Given the description of an element on the screen output the (x, y) to click on. 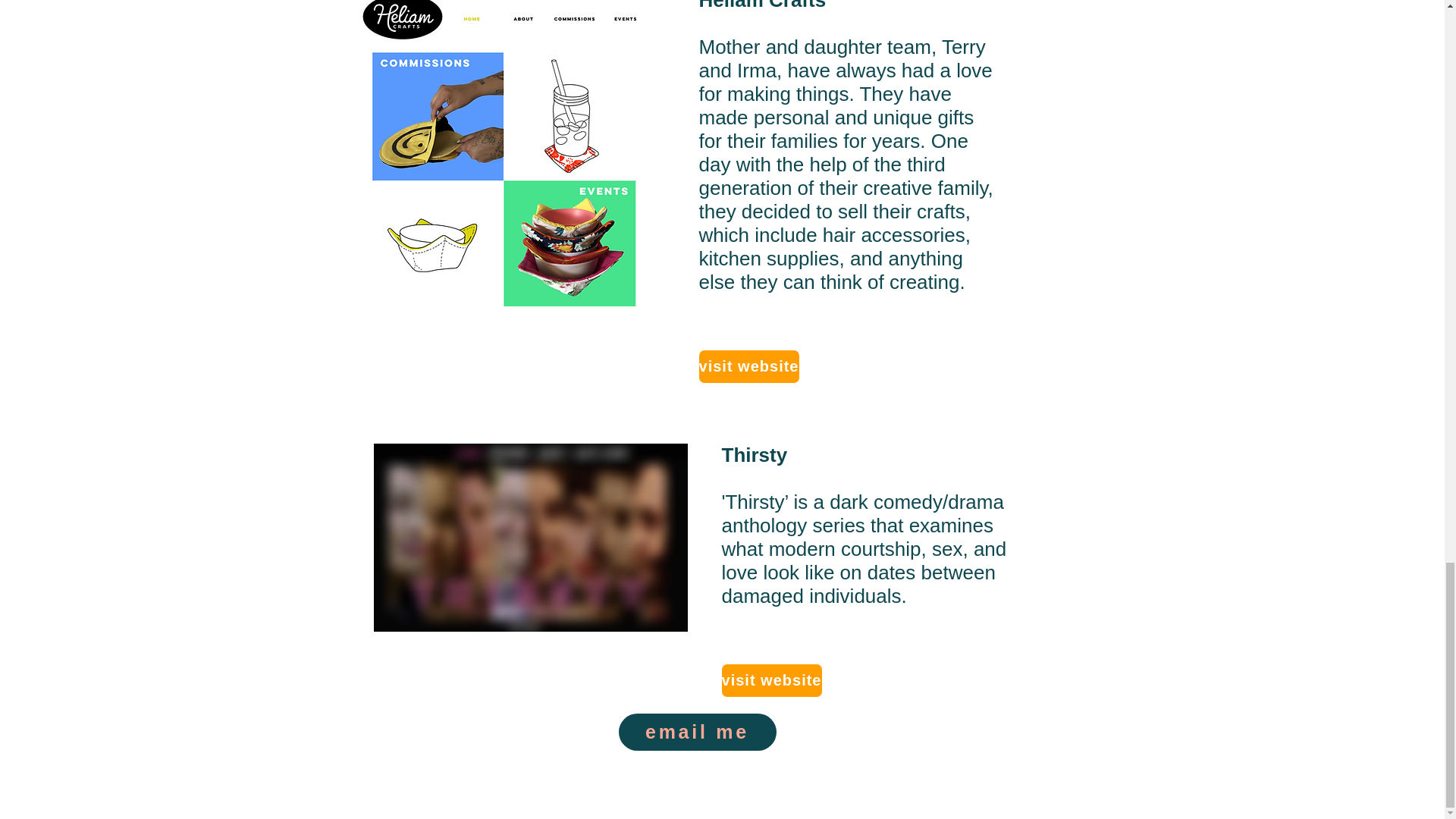
visit website (772, 680)
email me (697, 732)
visit website (748, 366)
